Given the description of an element on the screen output the (x, y) to click on. 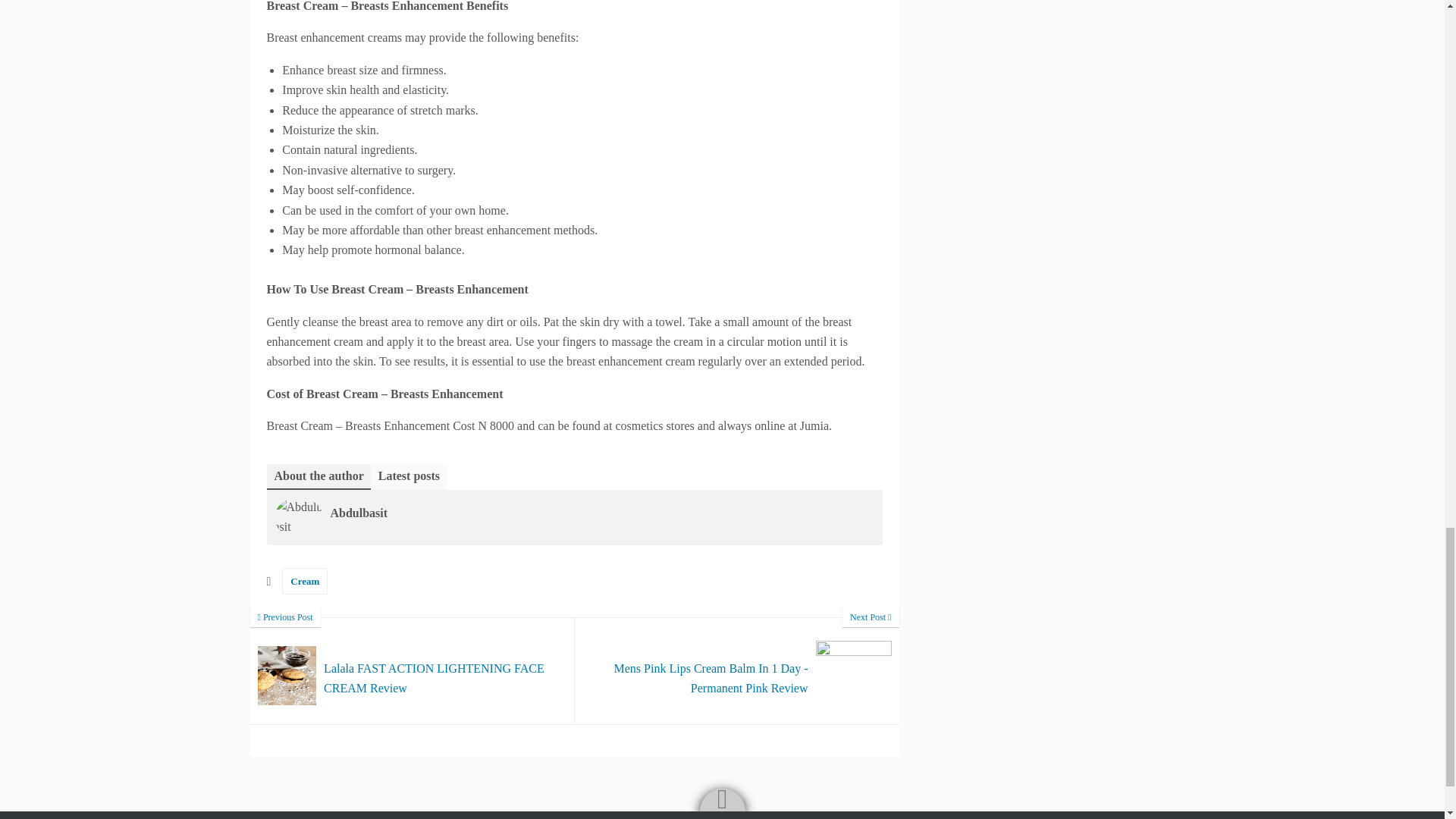
Mens Pink Lips Cream Balm In 1 Day -Permanent Pink Review (737, 670)
Lalala FAST ACTION LIGHTENING FACE CREAM Review (412, 670)
Cream (304, 581)
